Given the description of an element on the screen output the (x, y) to click on. 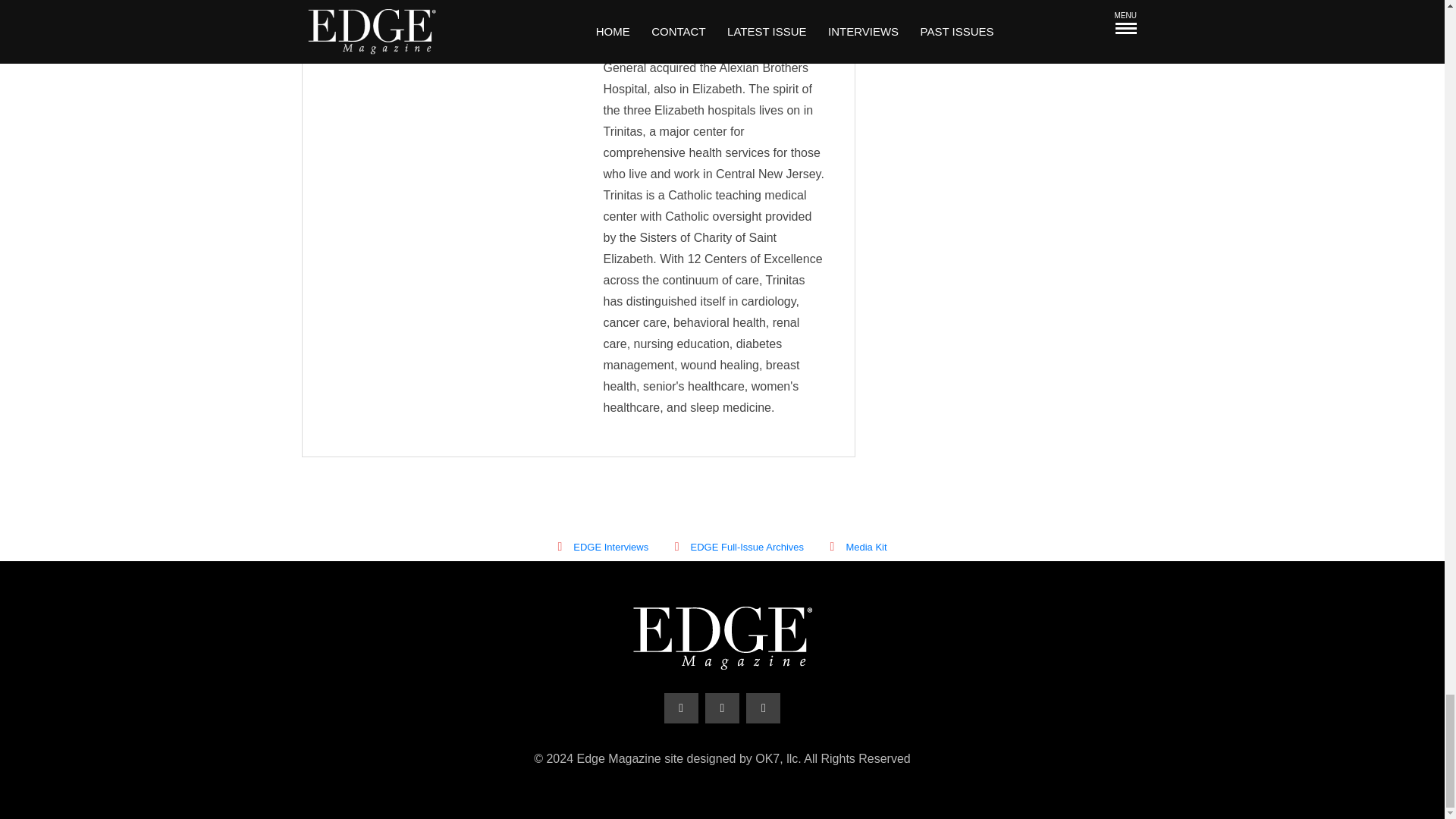
instagram (762, 707)
twitter (721, 707)
EDGE Interviews (602, 546)
Media Kit (857, 546)
EDGE Full-Issue Archives (739, 546)
facebook (680, 707)
